Given the description of an element on the screen output the (x, y) to click on. 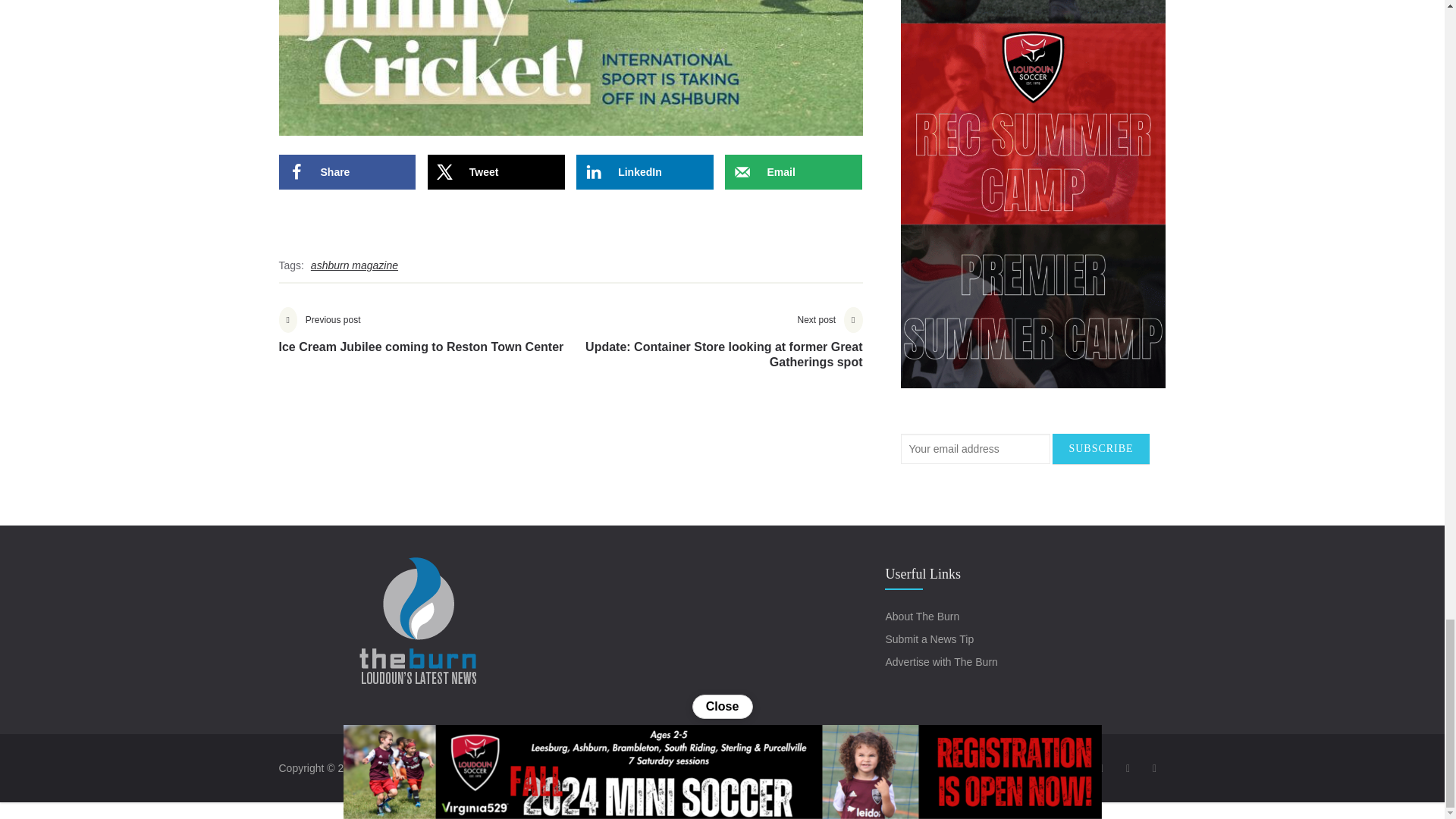
Tweet (496, 171)
Send over email (793, 171)
LinkedIn (644, 171)
Share on X (496, 171)
Subscribe (1100, 449)
prev post (421, 341)
ashburn magazine (354, 265)
Email (793, 171)
next post (715, 348)
Share on Facebook (421, 341)
Share on LinkedIn (347, 171)
Share (644, 171)
